Given the description of an element on the screen output the (x, y) to click on. 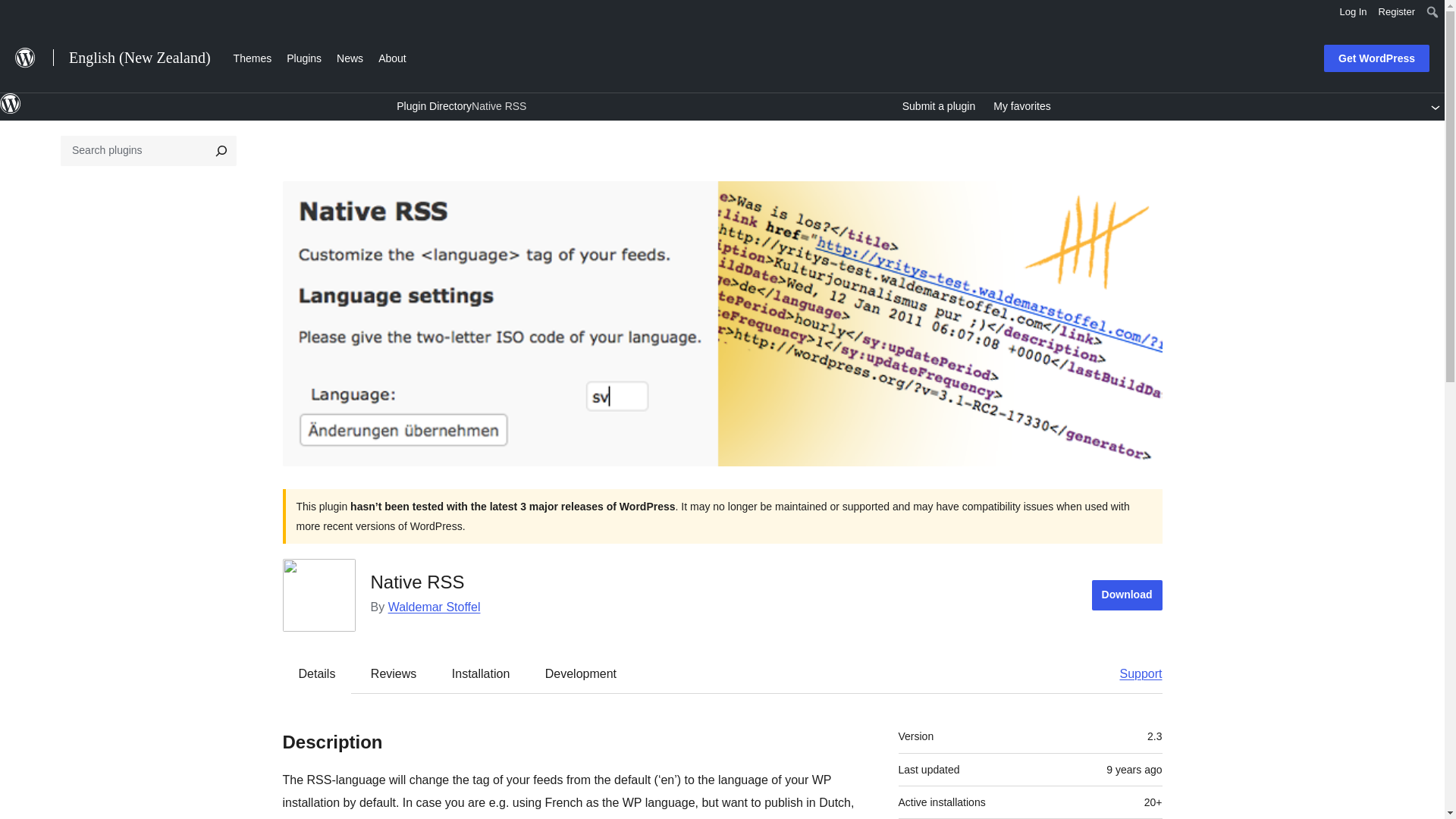
Get WordPress (1376, 58)
Download (1126, 594)
Installation (480, 673)
Register (1397, 12)
Search (16, 13)
Waldemar Stoffel (434, 606)
Native RSS (498, 106)
Plugin Directory (433, 105)
WordPress.org (10, 103)
Reviews (392, 673)
